Given the description of an element on the screen output the (x, y) to click on. 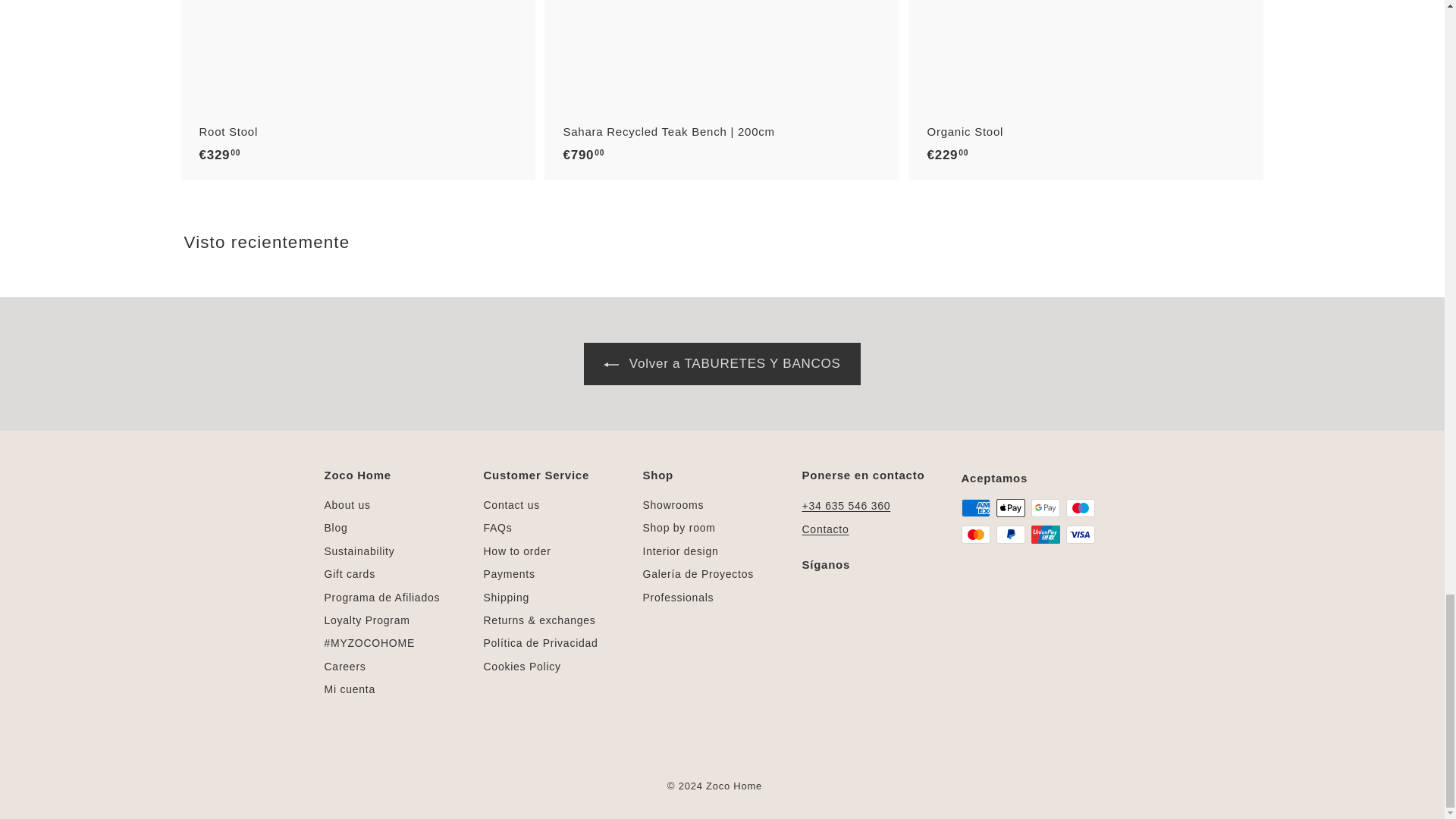
Visa (1079, 534)
icon-left-arrow (611, 364)
Google Pay (1044, 507)
Mastercard (975, 534)
American Express (975, 507)
PayPal (1010, 534)
Apple Pay (1010, 507)
Union Pay (1044, 534)
Maestro (1079, 507)
